Given the description of an element on the screen output the (x, y) to click on. 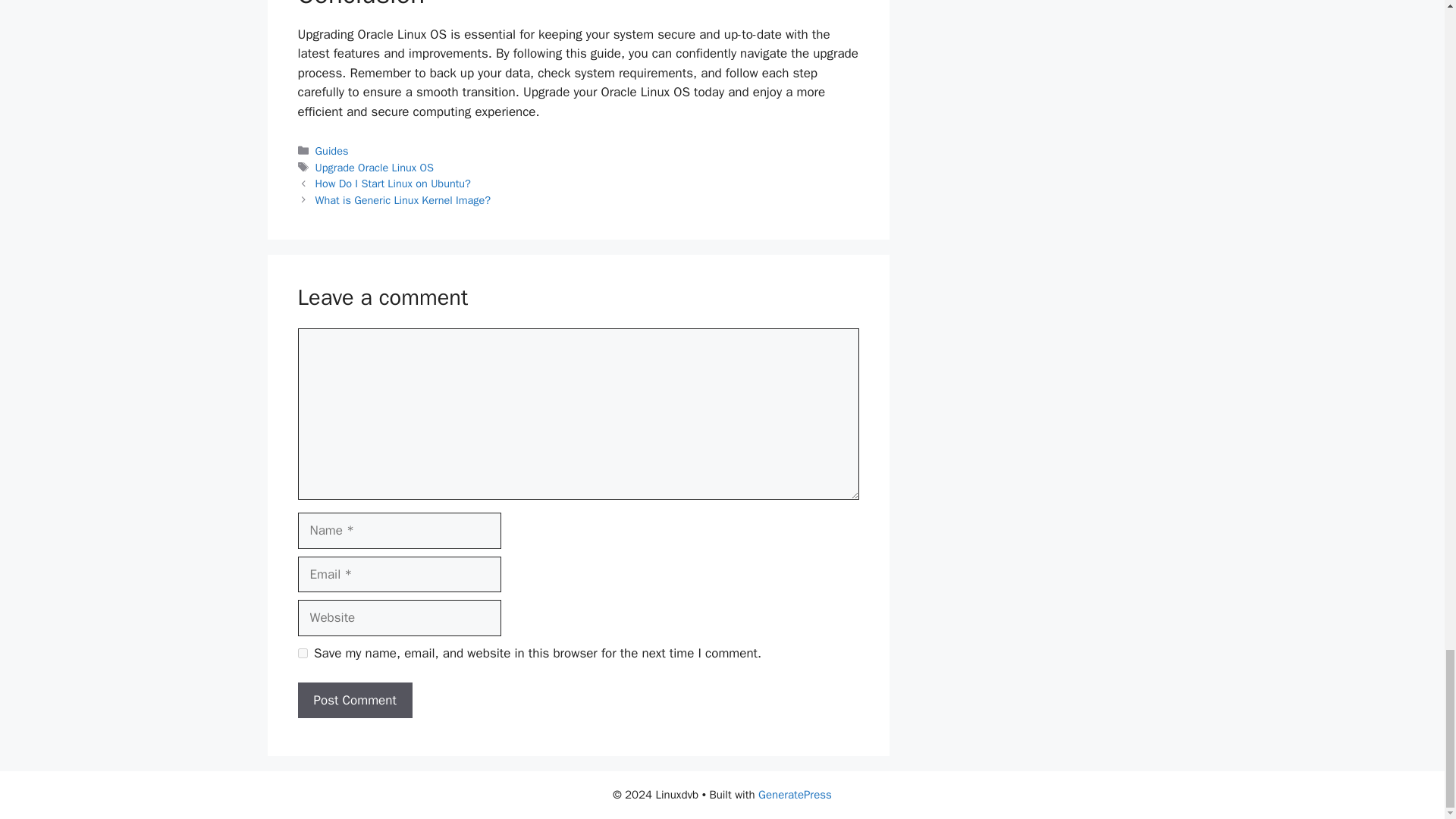
Guides (332, 151)
GeneratePress (794, 794)
What is Generic Linux Kernel Image? (403, 200)
Post Comment (354, 700)
Upgrade Oracle Linux OS (374, 167)
How Do I Start Linux on Ubuntu? (392, 183)
yes (302, 653)
Post Comment (354, 700)
